Given the description of an element on the screen output the (x, y) to click on. 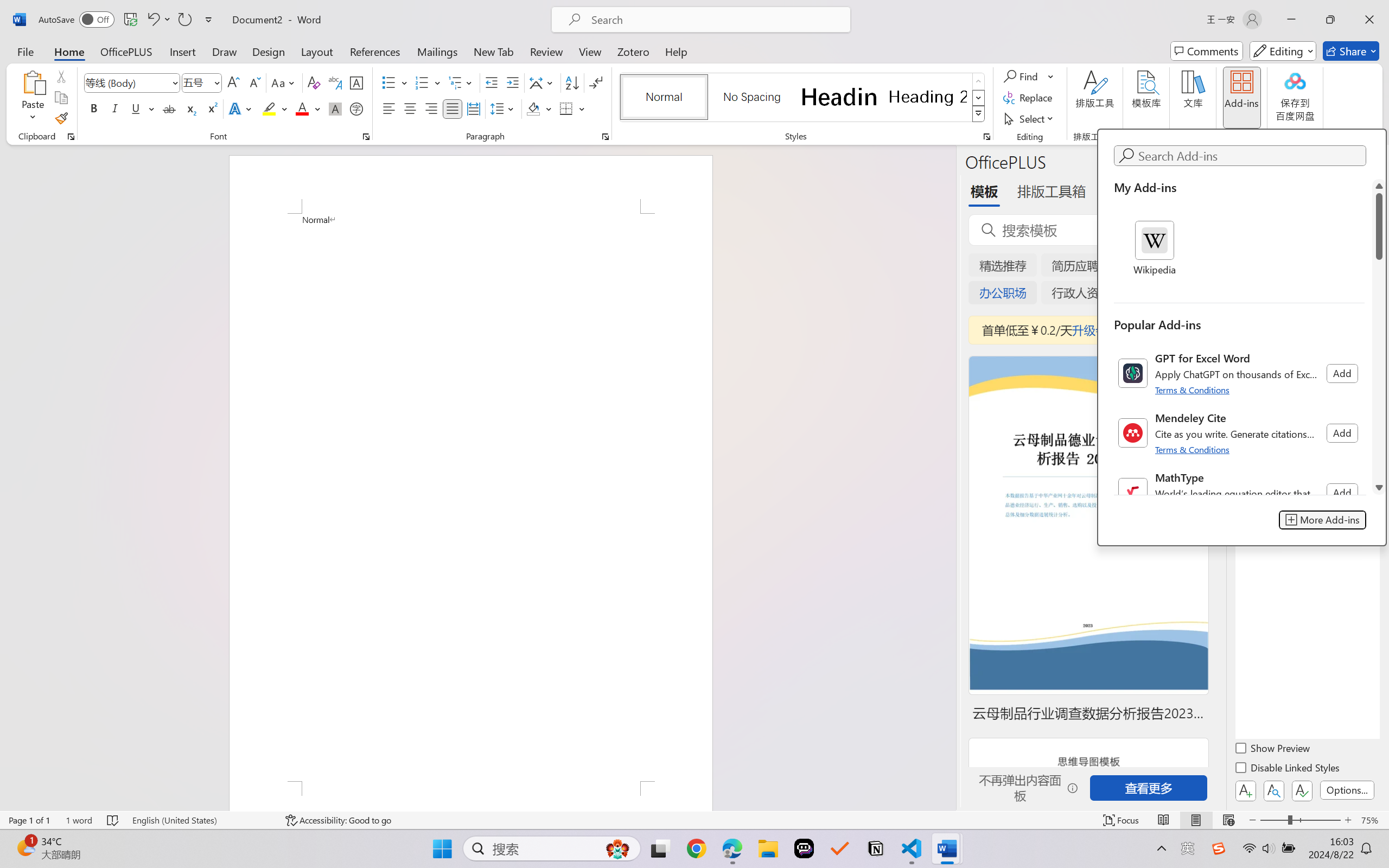
Camera 7, No camera detected. (727, 408)
Alt Text (1377, 156)
Title TextBox (1156, 331)
